Given the description of an element on the screen output the (x, y) to click on. 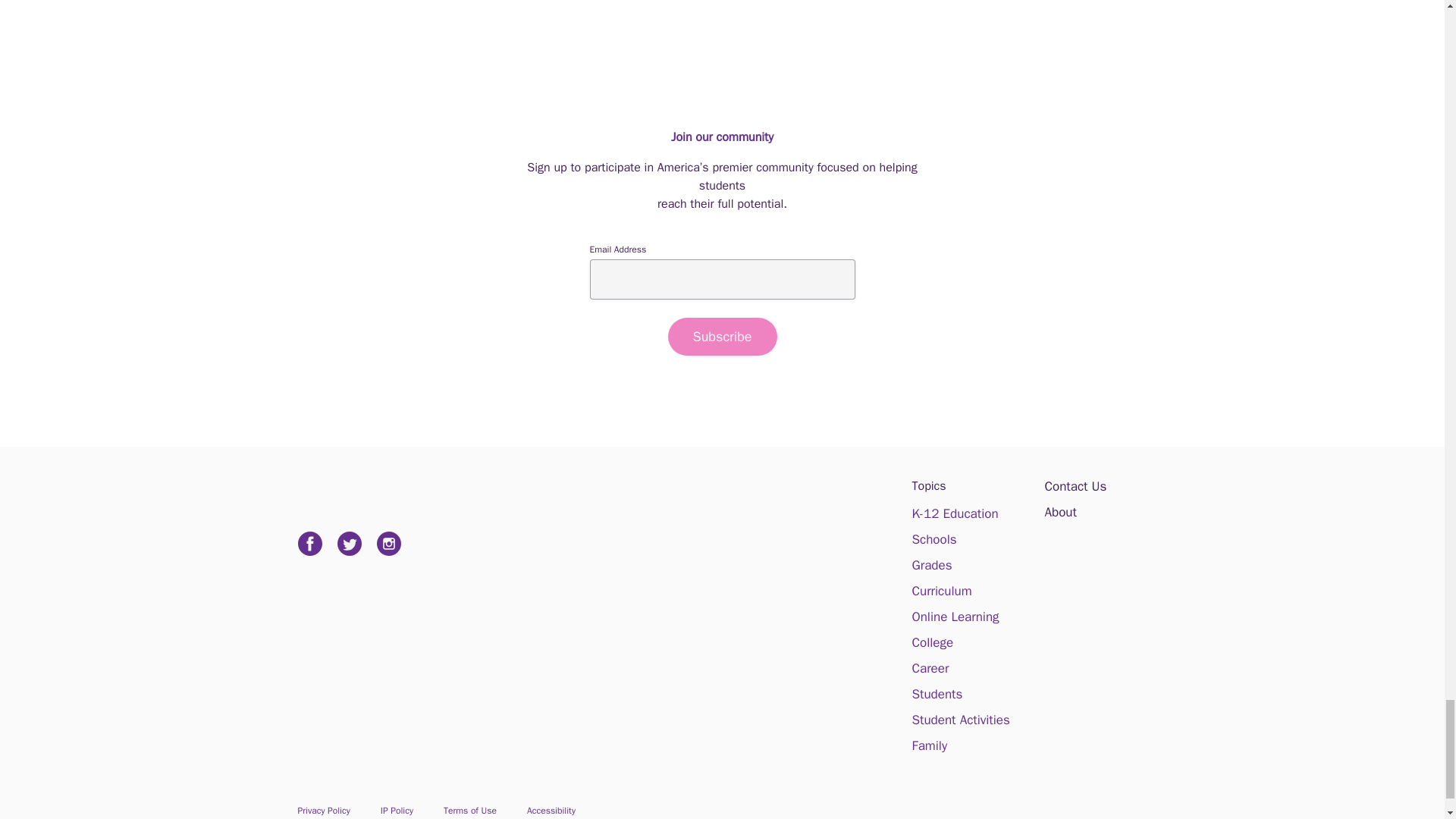
Learning Liftoff Privacy Policy (323, 810)
Subscribe (721, 336)
Accessibility Policy (551, 810)
